Given the description of an element on the screen output the (x, y) to click on. 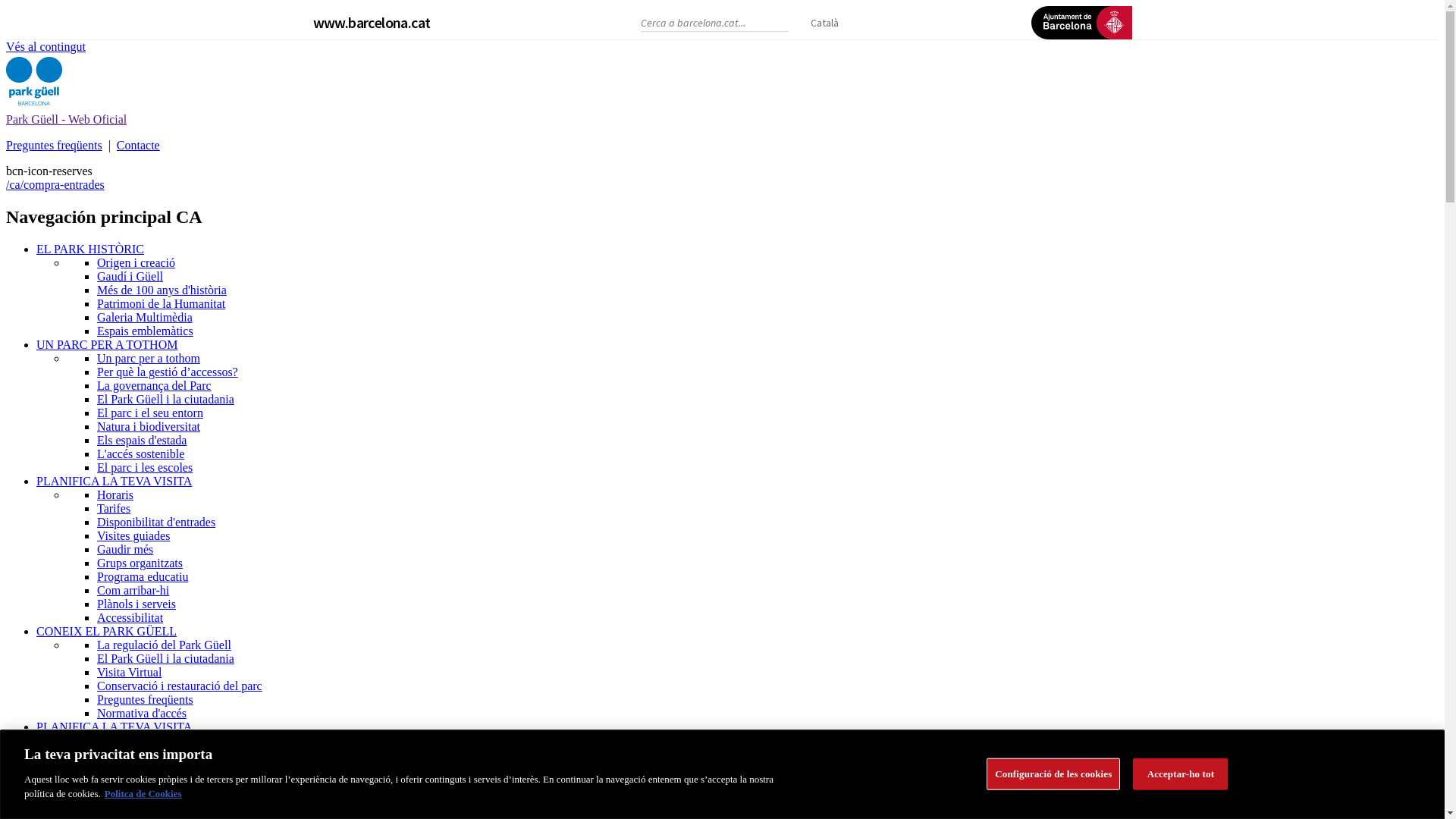
ENTRADES Element type: text (68, 740)
www.barcelona.cat Element type: text (370, 21)
Acceptar-ho tot Element type: text (1179, 773)
Politca de Cookies Element type: text (143, 793)
Un parc per a tothom Element type: text (148, 357)
El parc i les escoles Element type: text (144, 467)
Visites guiades Element type: text (133, 535)
Horaris Element type: text (115, 494)
/ca/compra-entrades Element type: text (55, 184)
Tarifes Element type: text (113, 508)
PLANIFICA LA TEVA VISITA Element type: text (113, 726)
Els espais d'estada Element type: text (141, 439)
Inici Element type: hover (34, 105)
Patrimoni de la Humanitat Element type: text (161, 303)
Natura i biodiversitat Element type: text (148, 426)
Com arribar-hi Element type: text (133, 589)
Contacte Element type: text (138, 144)
Grups organitzats Element type: text (139, 562)
Dreceres de barcelona.cat Element type: hover (614, 20)
estat de les obres de restauracio Element type: text (112, 805)
Inici Element type: text (47, 791)
PLANIFICA LA TEVA VISITA Element type: text (113, 480)
Accessibilitat Element type: text (130, 617)
UN PARC PER A TOTHOM Element type: text (106, 344)
Visita Virtual Element type: text (129, 671)
El parc i el seu entorn Element type: text (150, 412)
Disponibilitat d'entrades Element type: text (156, 521)
Programa educatiu Element type: text (142, 576)
